Given the description of an element on the screen output the (x, y) to click on. 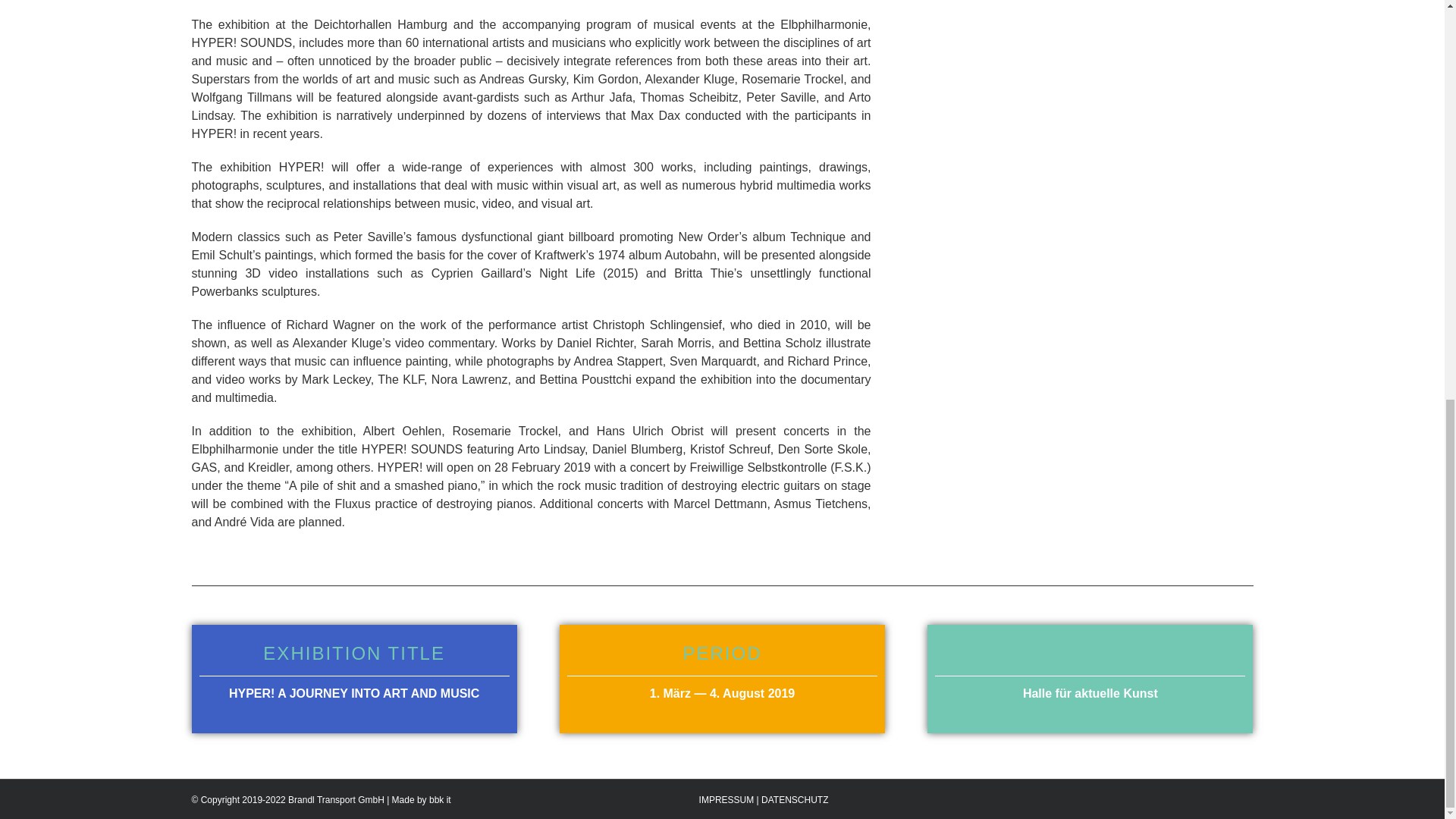
IMPRESSUM (726, 799)
bbk it (440, 799)
DATENSCHUTZ (794, 799)
